Given the description of an element on the screen output the (x, y) to click on. 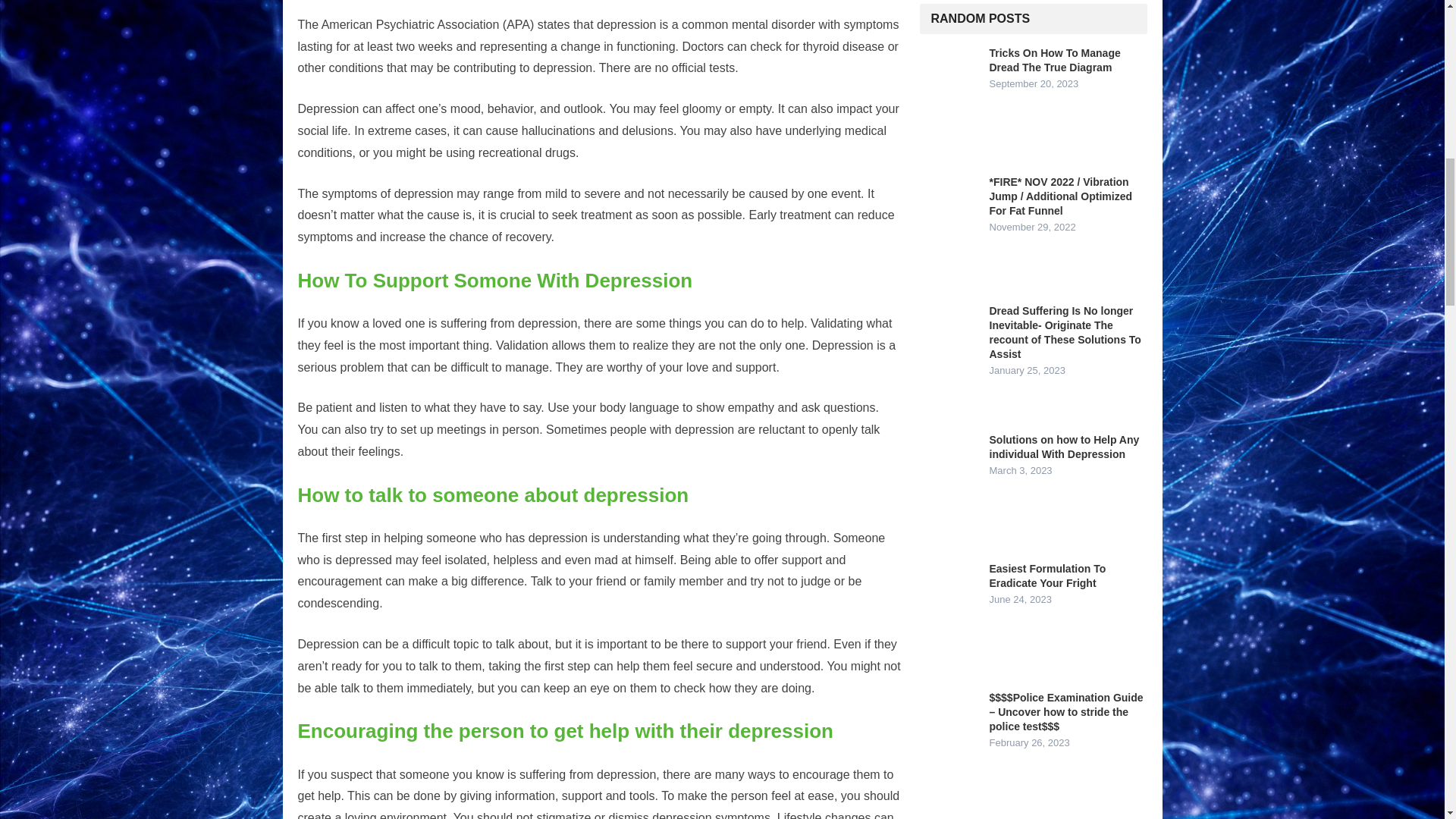
How To Support Somone With Depression (495, 280)
How to talk to someone about depression (492, 495)
Posts tagged with How To Support Somone With Depression (495, 280)
Encouraging the person to get help with their depression (564, 730)
Posts tagged with How to talk to someone about depression (492, 495)
